Given the description of an element on the screen output the (x, y) to click on. 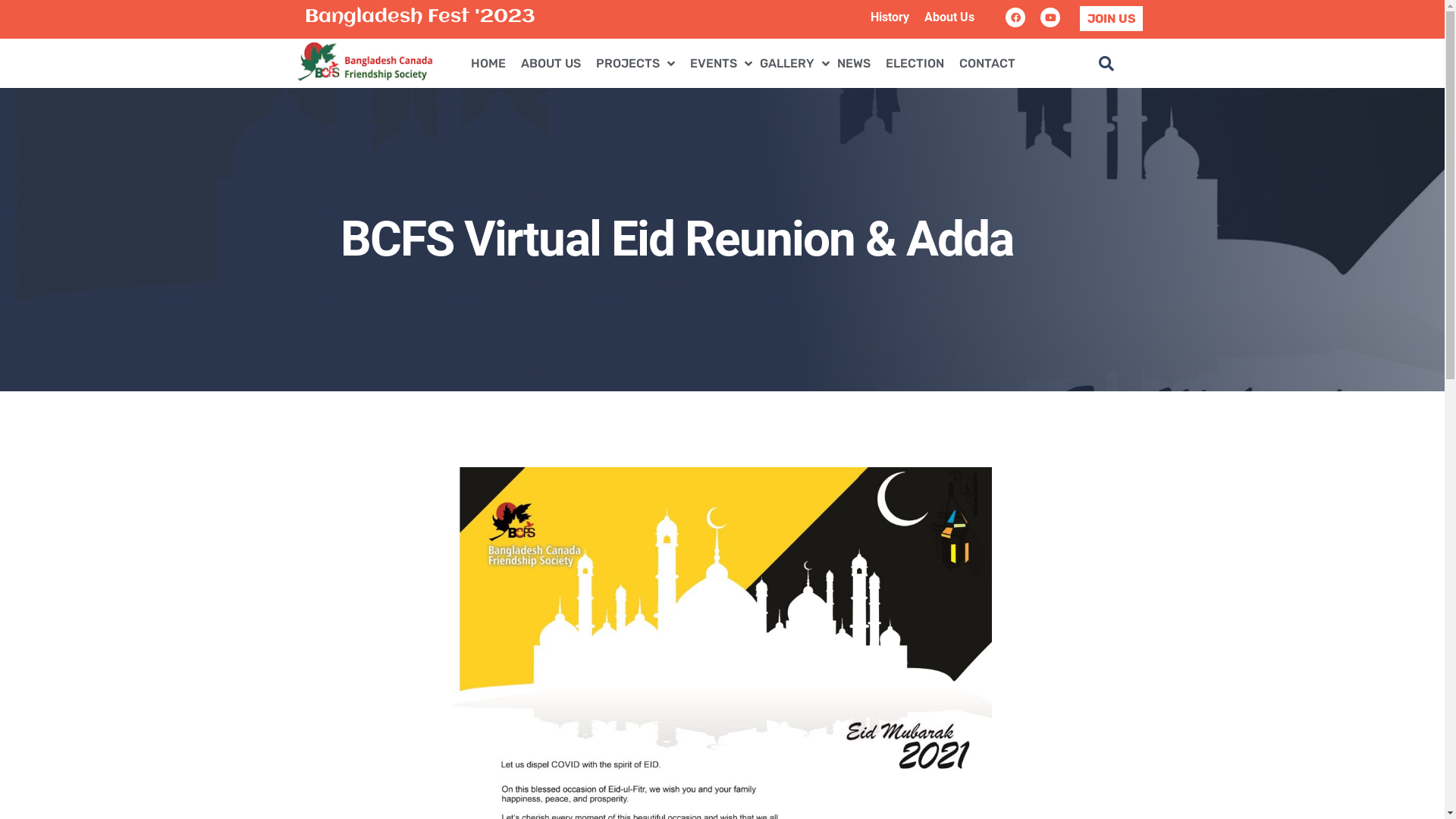
About Us Element type: text (949, 17)
Bangladesh Fest '2023 Element type: text (419, 16)
History Element type: text (889, 17)
CONTACT Element type: text (986, 62)
ELECTION Element type: text (914, 62)
JOIN US Element type: text (1111, 18)
GALLERY Element type: text (794, 62)
EVENTS Element type: text (720, 62)
ABOUT US Element type: text (549, 62)
HOME Element type: text (487, 62)
PROJECTS Element type: text (635, 62)
NEWS Element type: text (853, 62)
